Given the description of an element on the screen output the (x, y) to click on. 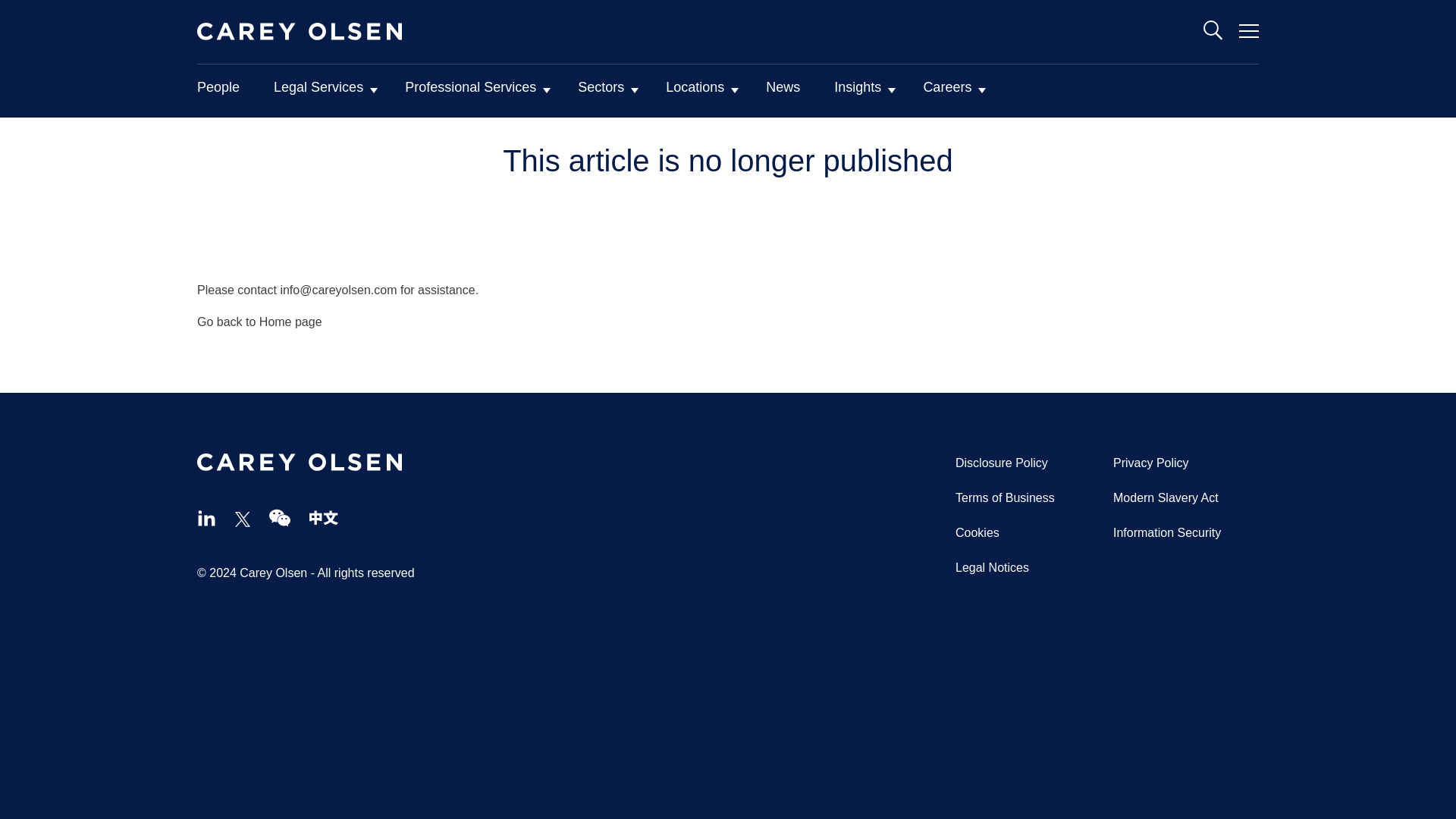
Home (298, 462)
Home (298, 31)
Skip to main content (8, 121)
People (223, 90)
Legal Services (327, 90)
